Given the description of an element on the screen output the (x, y) to click on. 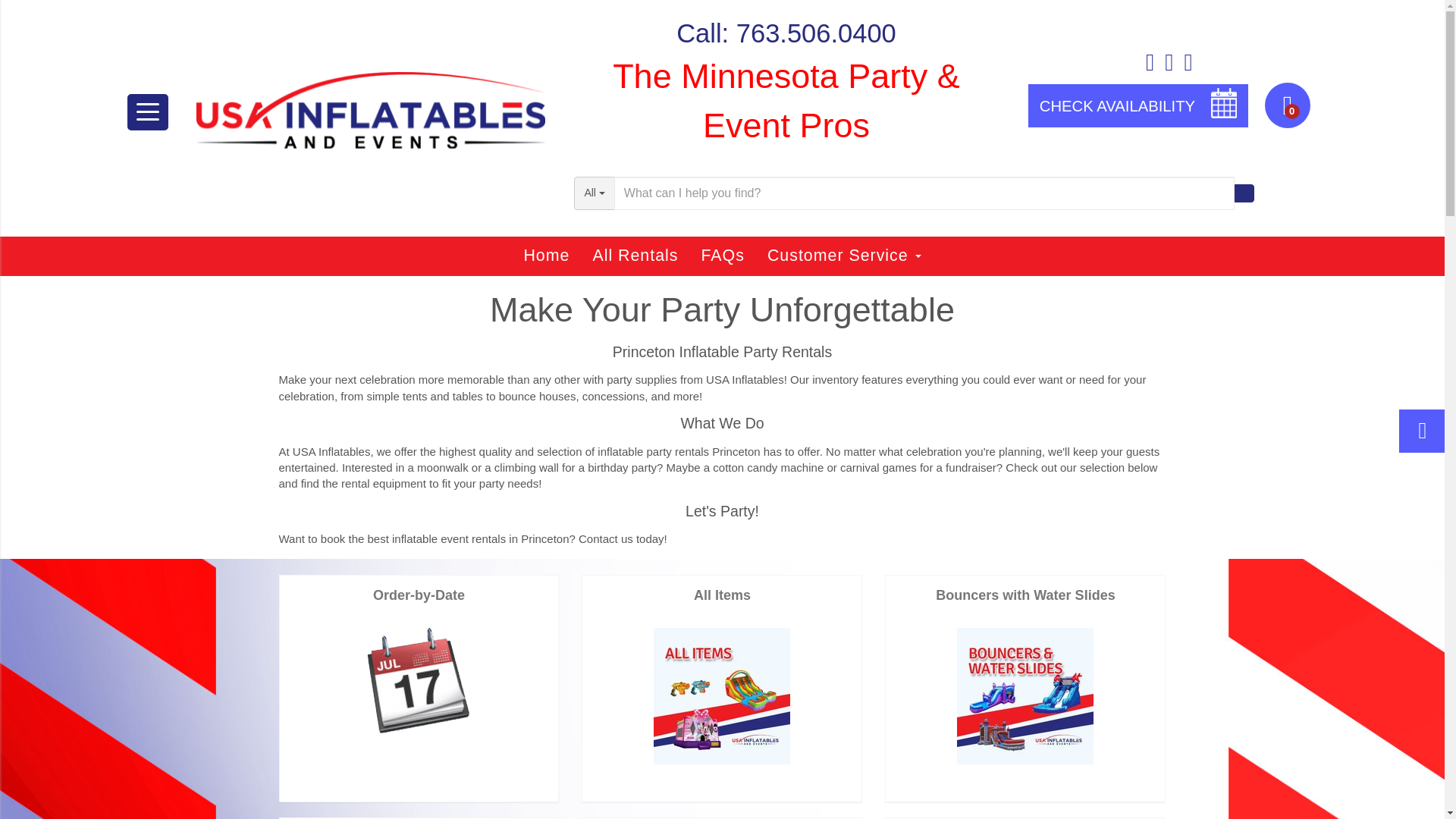
Bouncers with Water Slides  (1024, 696)
All (593, 192)
763.506.0400 (816, 32)
All Items  (721, 696)
Order-by-Date (418, 680)
CHECK AVAILABILITY (1137, 105)
